Given the description of an element on the screen output the (x, y) to click on. 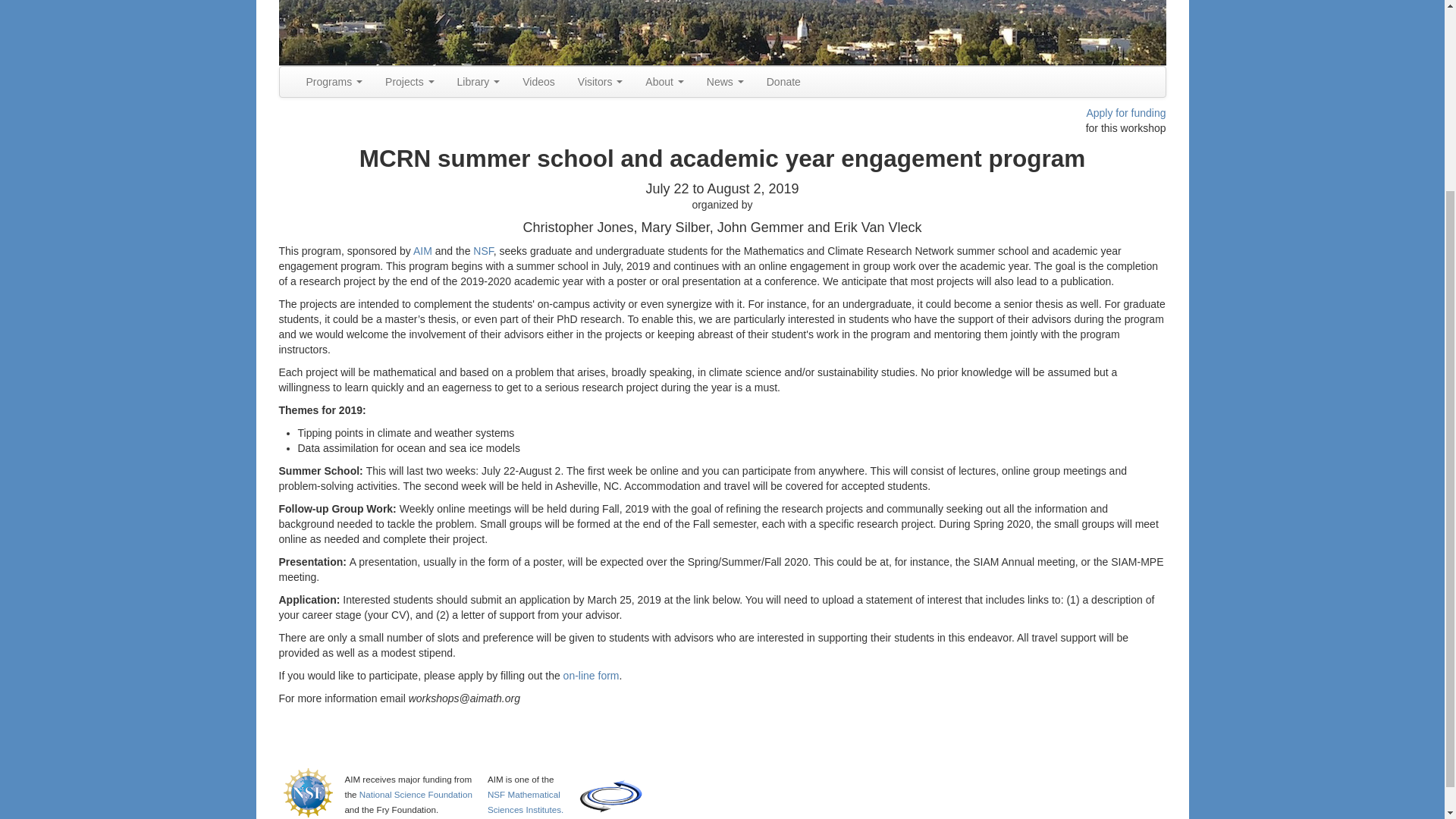
American Inst. of Mathematics (722, 33)
Skip to secondary content (340, 73)
Library (478, 81)
Skip to primary content (333, 73)
Videos (538, 81)
Skip to primary content (333, 73)
About (663, 81)
Skip to secondary content (340, 73)
Programs (334, 81)
Projects (409, 81)
Visitors (600, 81)
